Given the description of an element on the screen output the (x, y) to click on. 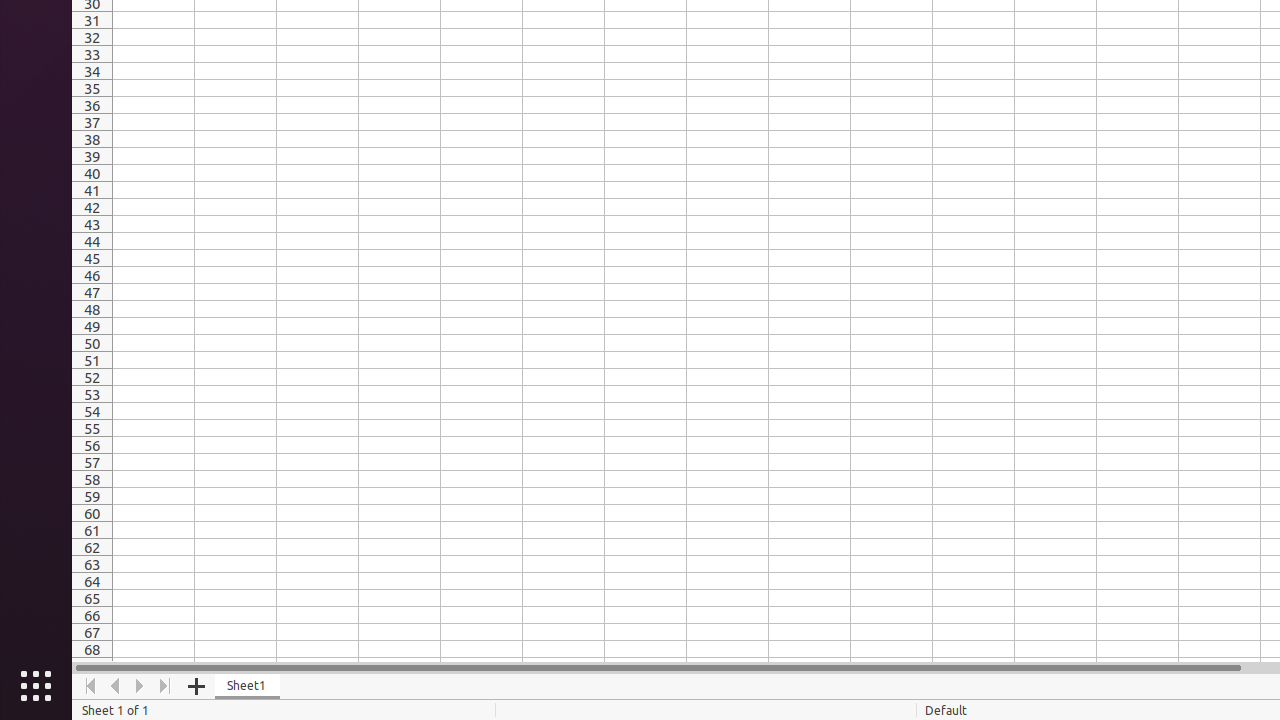
Move Right Element type: push-button (140, 686)
